Given the description of an element on the screen output the (x, y) to click on. 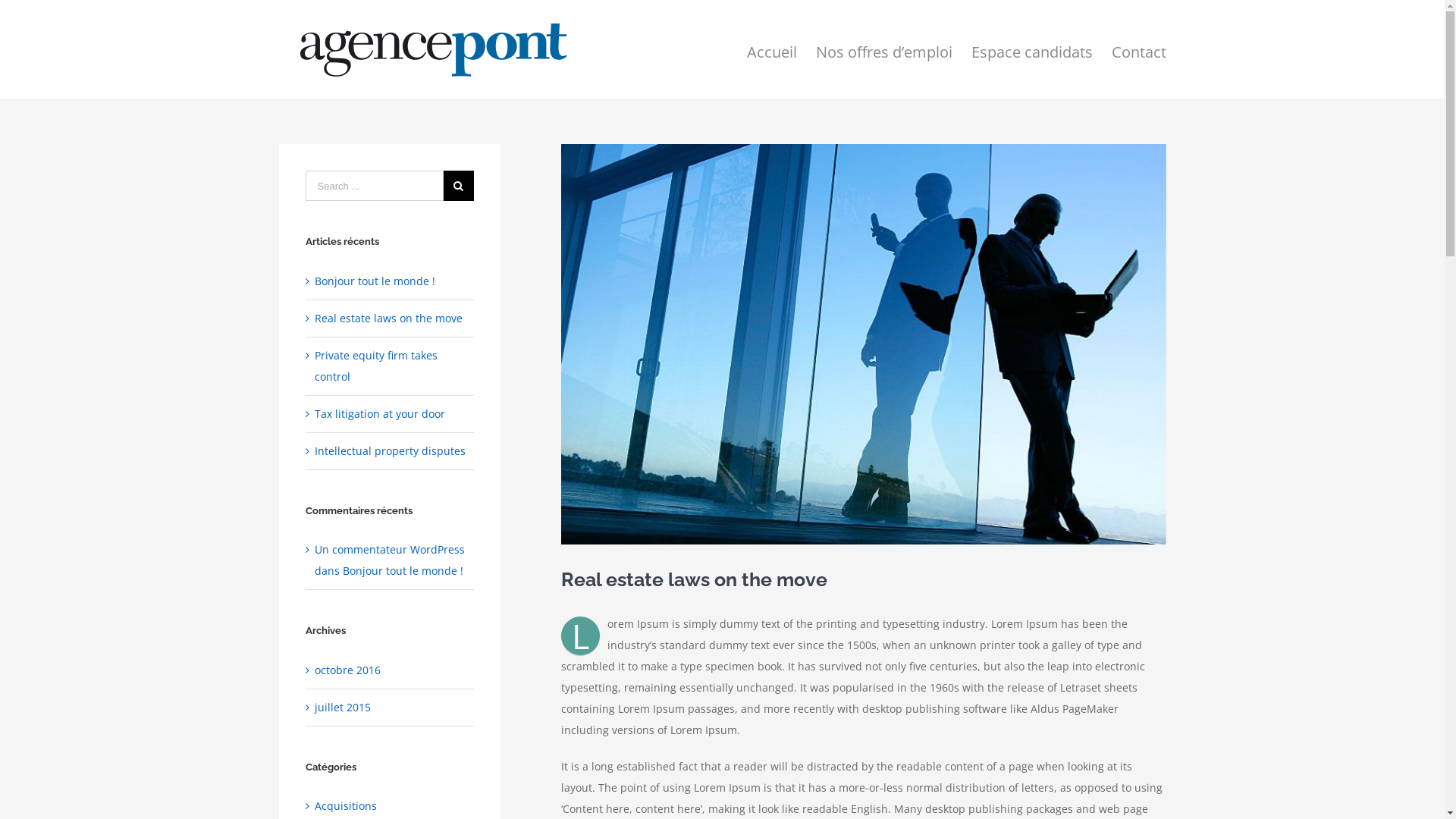
juillet 2015 Element type: text (342, 706)
Bonjour tout le monde ! Element type: text (374, 280)
Un commentateur WordPress Element type: text (389, 549)
Espace candidats Element type: text (1031, 49)
Private equity firm takes control Element type: text (375, 365)
Real estate laws on the move Element type: text (388, 317)
Acquisitions Element type: text (390, 805)
Bonjour tout le monde ! Element type: text (402, 570)
octobre 2016 Element type: text (347, 669)
Contact Element type: text (1138, 49)
Intellectual property disputes Element type: text (389, 450)
Accueil Element type: text (771, 49)
View Larger Image Element type: text (863, 344)
Tax litigation at your door Element type: text (379, 413)
